Given the description of an element on the screen output the (x, y) to click on. 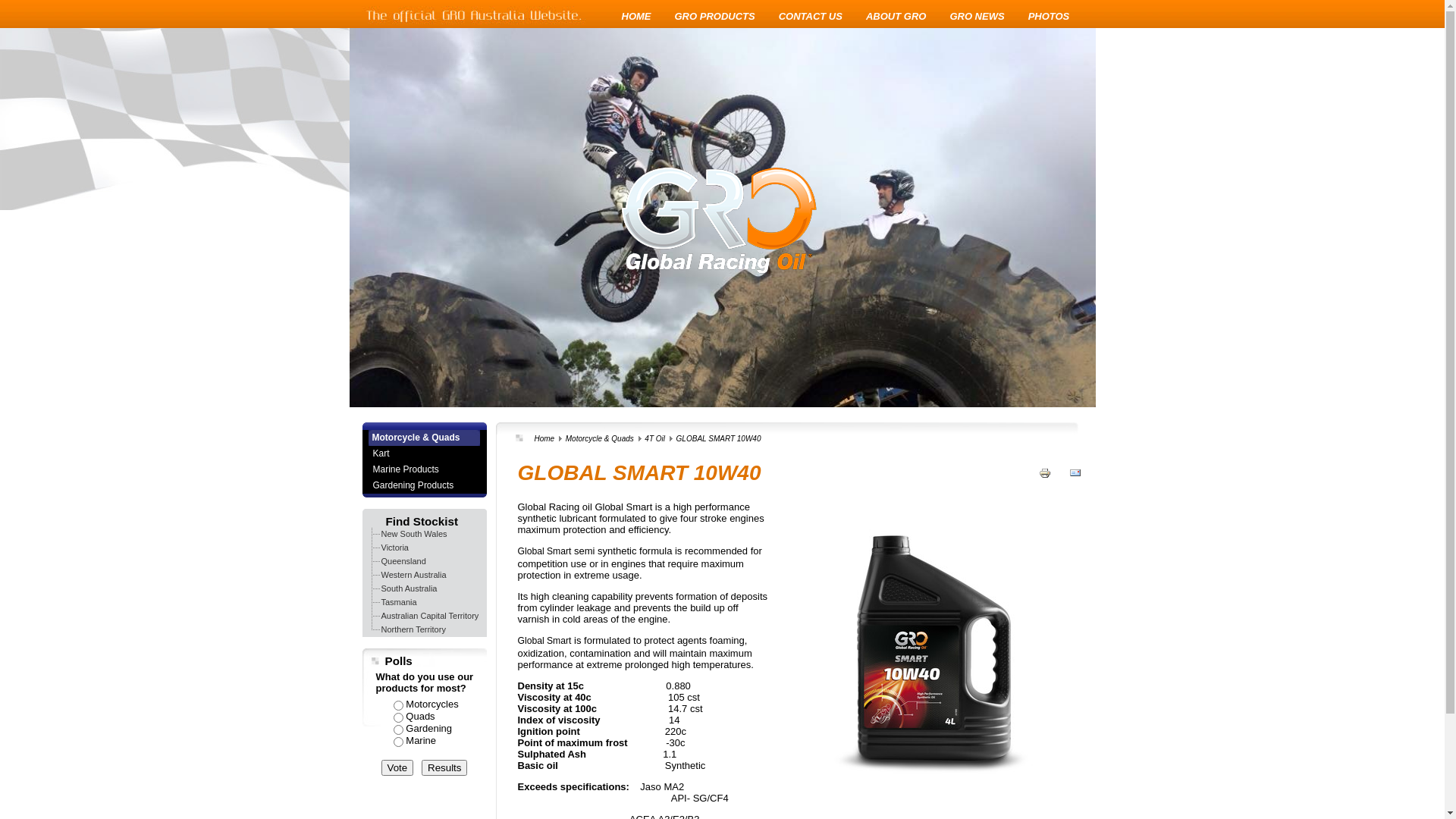
Results Element type: text (444, 767)
GRO PRODUCTS Element type: text (714, 15)
New South Wales Element type: text (413, 533)
Motorcycle & Quads Element type: text (599, 438)
Victoria Element type: text (394, 547)
4T Oil Element type: text (654, 438)
Motorcycle & Quads Element type: text (424, 437)
Tasmania Element type: text (398, 601)
Western Australia Element type: text (413, 574)
Marine Products Element type: text (423, 469)
Kart Element type: text (423, 453)
PHOTOS Element type: text (1049, 15)
South Australia Element type: text (408, 588)
E-mail Element type: hover (1074, 483)
Queensland Element type: text (402, 560)
ABOUT GRO Element type: text (895, 15)
CONTACT US Element type: text (810, 15)
Vote Element type: text (396, 767)
Home Element type: text (543, 438)
HOME Element type: text (636, 15)
Northern Territory Element type: text (412, 629)
Gardening Products Element type: text (423, 485)
GRO NEWS Element type: text (976, 15)
Australian Capital Territory Element type: text (429, 615)
Print Element type: hover (1044, 483)
